Given the description of an element on the screen output the (x, y) to click on. 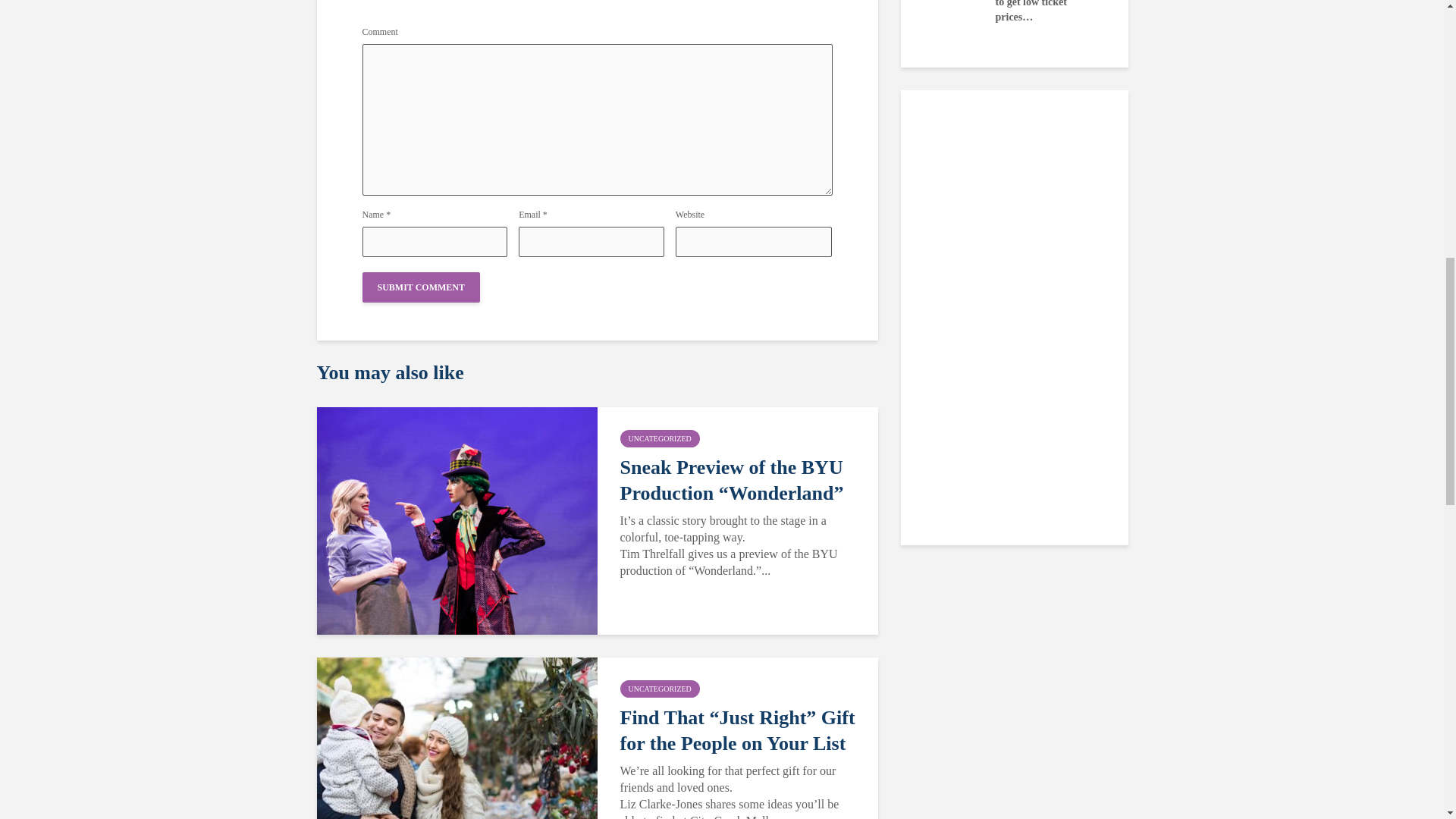
UNCATEGORIZED (660, 438)
Submit Comment (421, 286)
Submit Comment (421, 286)
UNCATEGORIZED (660, 688)
